Given the description of an element on the screen output the (x, y) to click on. 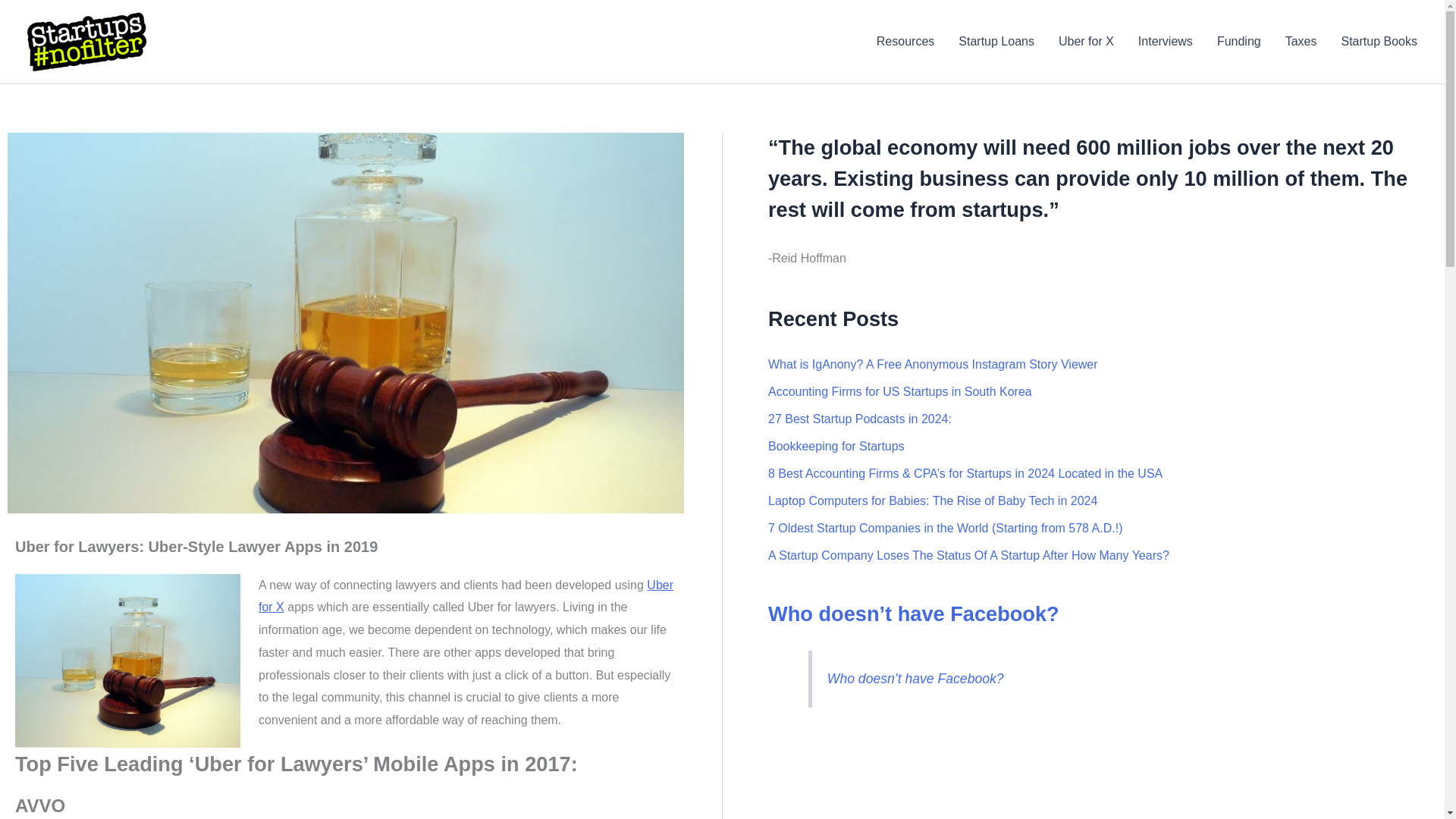
Startup Loans (996, 41)
Resources (905, 41)
Funding (1238, 41)
Interviews (1165, 41)
Startup Books (1378, 41)
Taxes (1300, 41)
Uber for X (1085, 41)
